Given the description of an element on the screen output the (x, y) to click on. 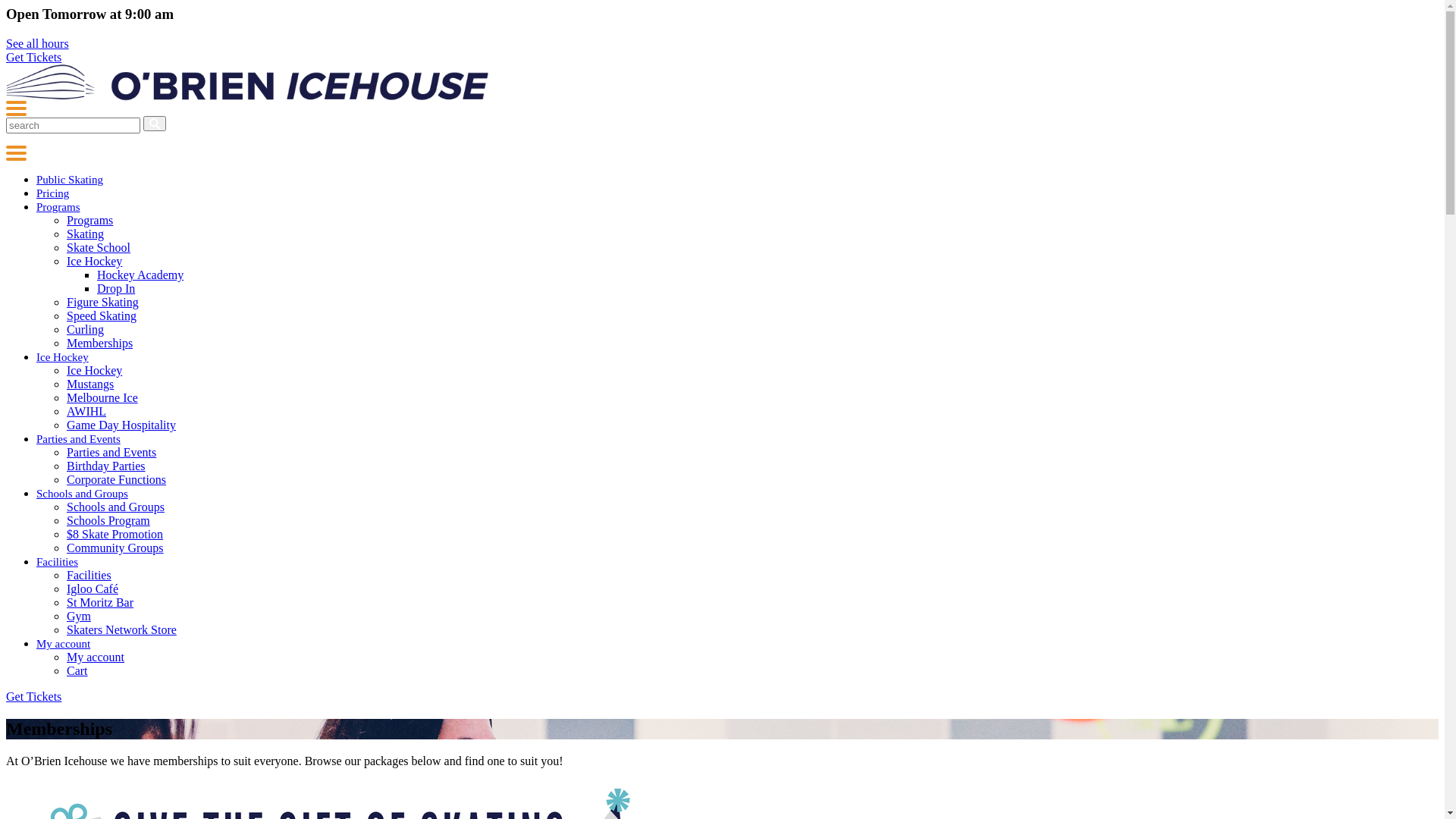
Gym Element type: text (78, 615)
Ice Hockey Element type: text (62, 357)
Facilities Element type: text (88, 574)
Skating Element type: text (84, 233)
Birthday Parties Element type: text (105, 465)
My account Element type: text (95, 656)
Programs Element type: text (58, 206)
$8 Skate Promotion Element type: text (114, 533)
Melbourne Ice Element type: text (102, 397)
Get Tickets Element type: text (33, 56)
Parties and Events Element type: text (111, 451)
Get Tickets Element type: text (33, 696)
Ice Hockey Element type: text (94, 370)
Schools and Groups Element type: text (82, 493)
Hockey Academy Element type: text (140, 274)
Mustangs Element type: text (89, 383)
Pricing Element type: text (52, 193)
Skate School Element type: text (98, 247)
AWIHL Element type: text (86, 410)
Schools Program Element type: text (108, 520)
My account Element type: text (63, 643)
Memberships Element type: text (99, 342)
Parties and Events Element type: text (78, 439)
Figure Skating Element type: text (102, 301)
Corporate Functions Element type: text (116, 479)
Public Skating Element type: text (69, 179)
Ice Hockey Element type: text (94, 260)
Cart Element type: text (76, 670)
Skaters Network Store Element type: text (121, 629)
Drop In Element type: text (115, 288)
Curling Element type: text (84, 329)
Game Day Hospitality Element type: text (120, 424)
Facilities Element type: text (57, 561)
Schools and Groups Element type: text (115, 506)
Community Groups Element type: text (114, 547)
Programs Element type: text (89, 219)
Speed Skating Element type: text (101, 315)
See all hours Element type: text (37, 43)
St Moritz Bar Element type: text (99, 602)
